Given the description of an element on the screen output the (x, y) to click on. 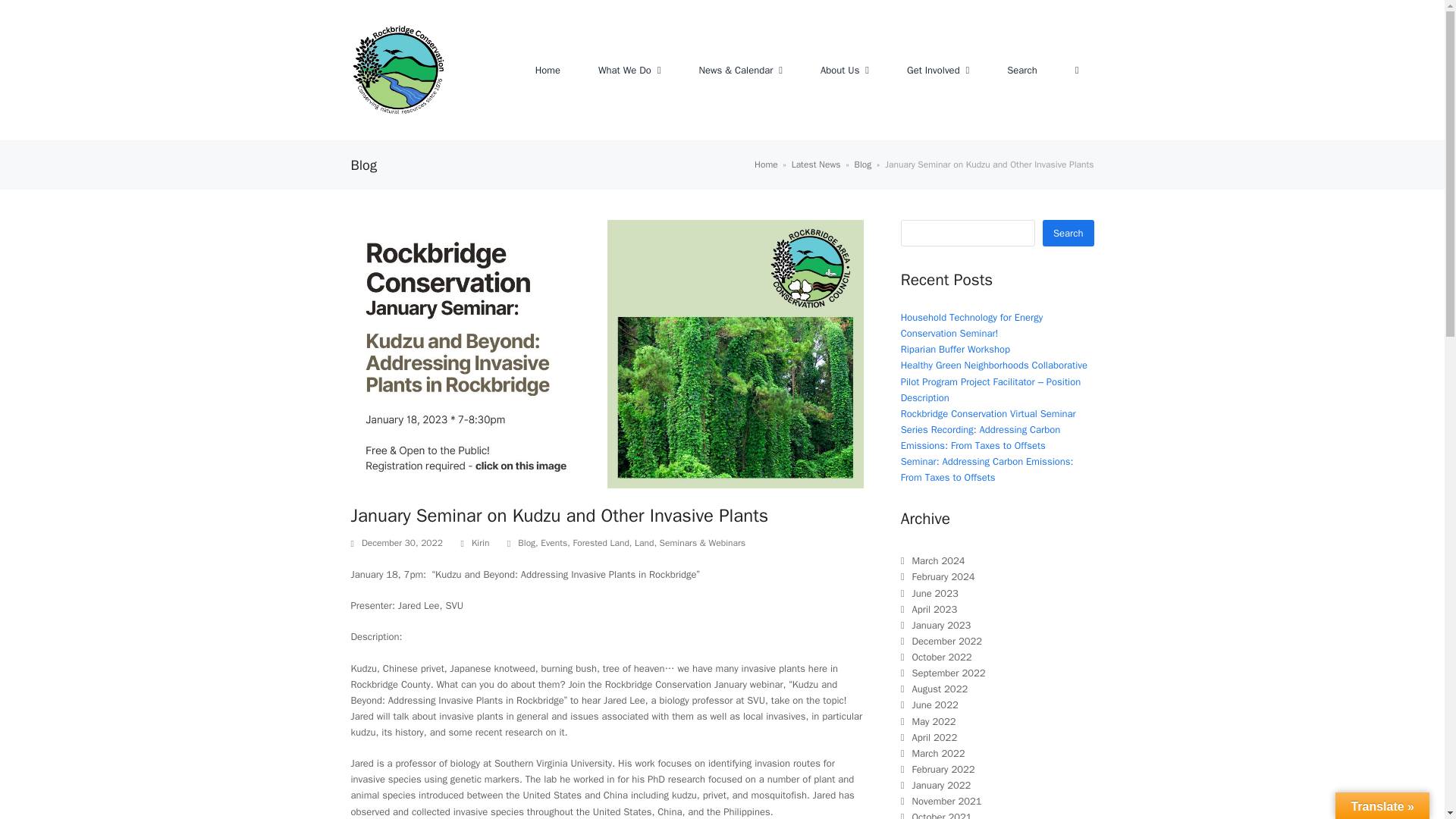
What We Do (629, 70)
Get Involved (937, 70)
Home (548, 70)
Posts by Kirin (480, 542)
About Us (844, 70)
